Given the description of an element on the screen output the (x, y) to click on. 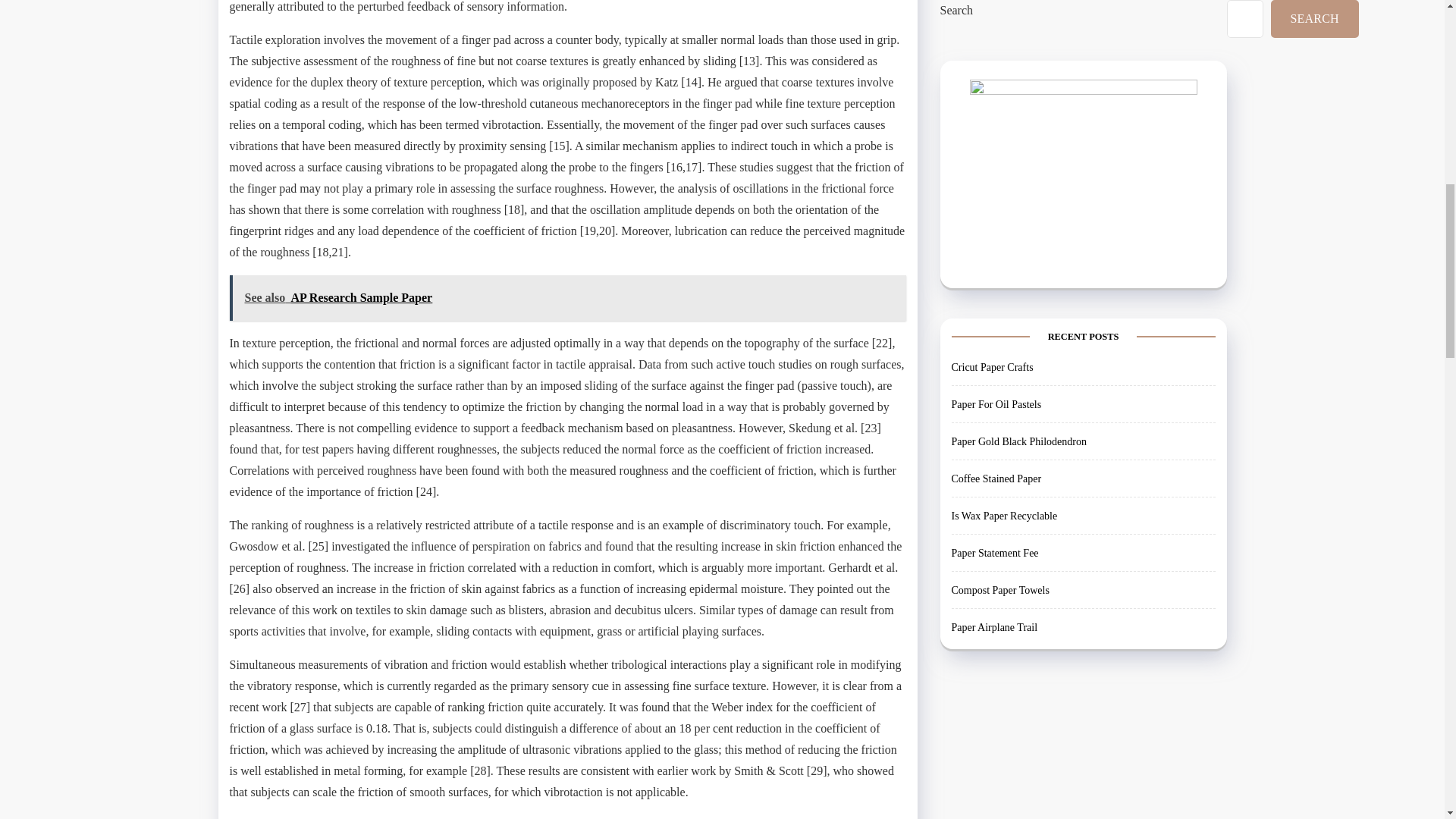
See also  AP Research Sample Paper (566, 298)
